Given the description of an element on the screen output the (x, y) to click on. 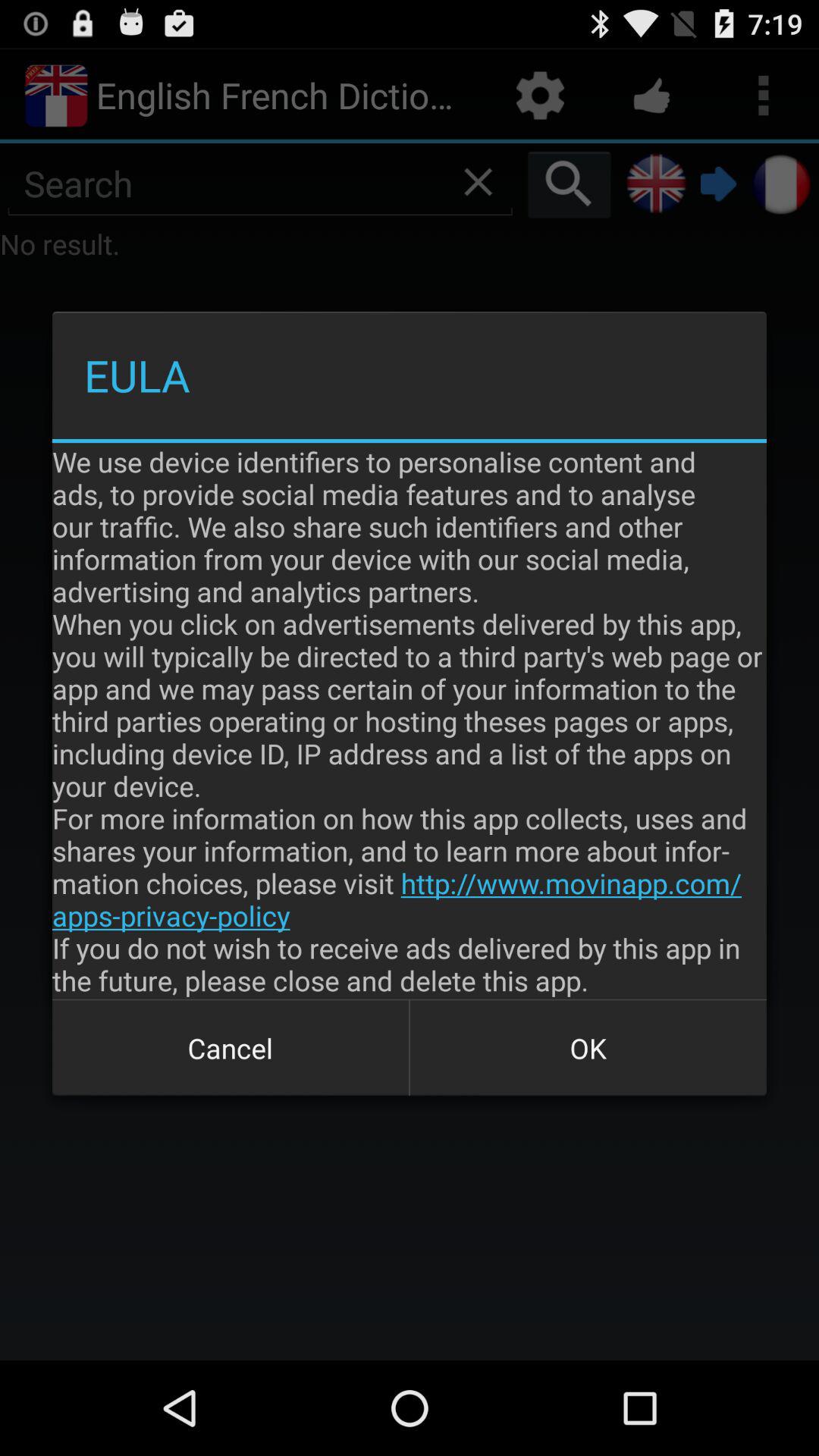
choose the icon to the left of ok icon (230, 1047)
